Given the description of an element on the screen output the (x, y) to click on. 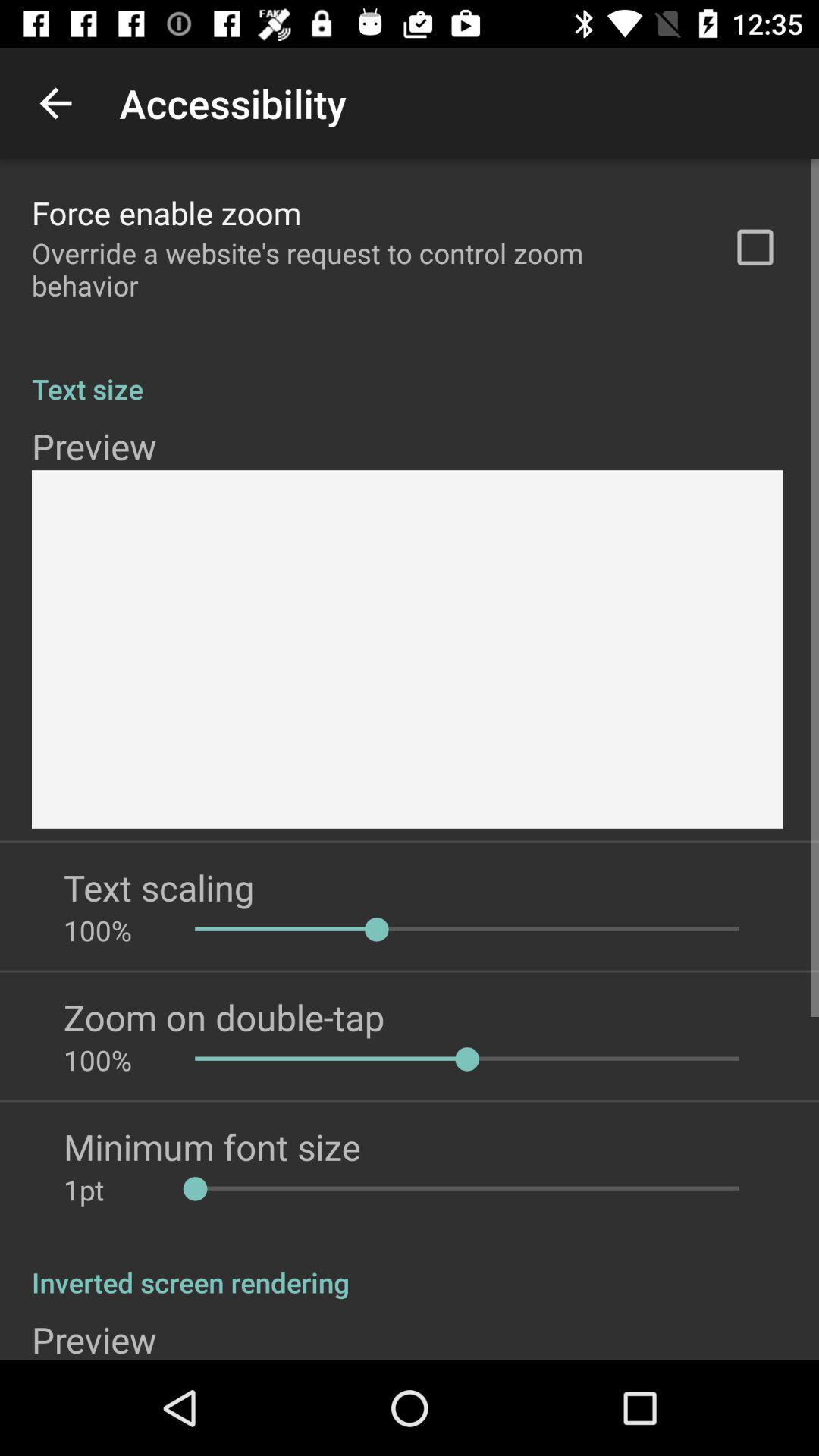
open item above the preview icon (409, 1266)
